Given the description of an element on the screen output the (x, y) to click on. 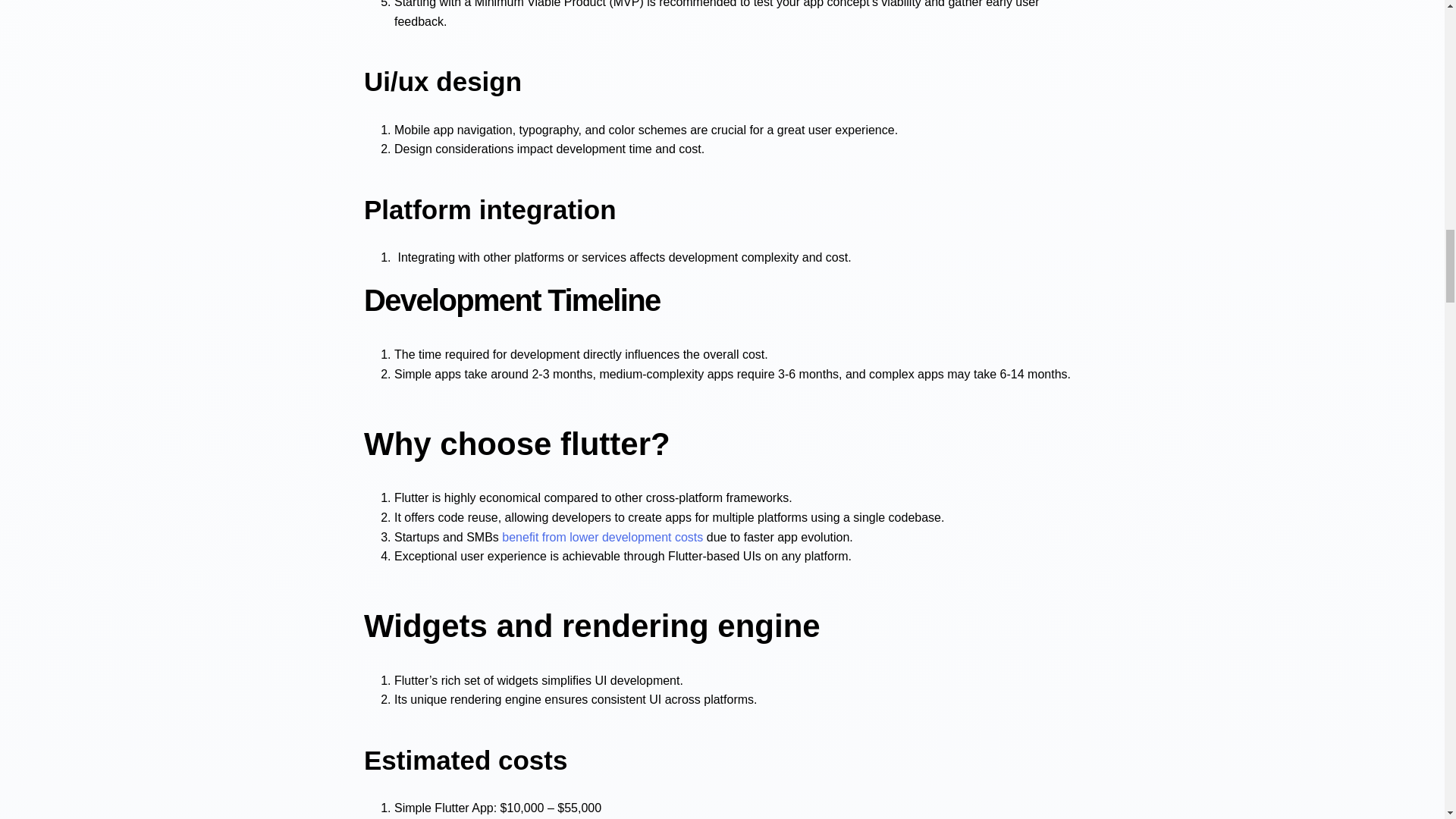
benefit from lower development costs (602, 536)
